Given the description of an element on the screen output the (x, y) to click on. 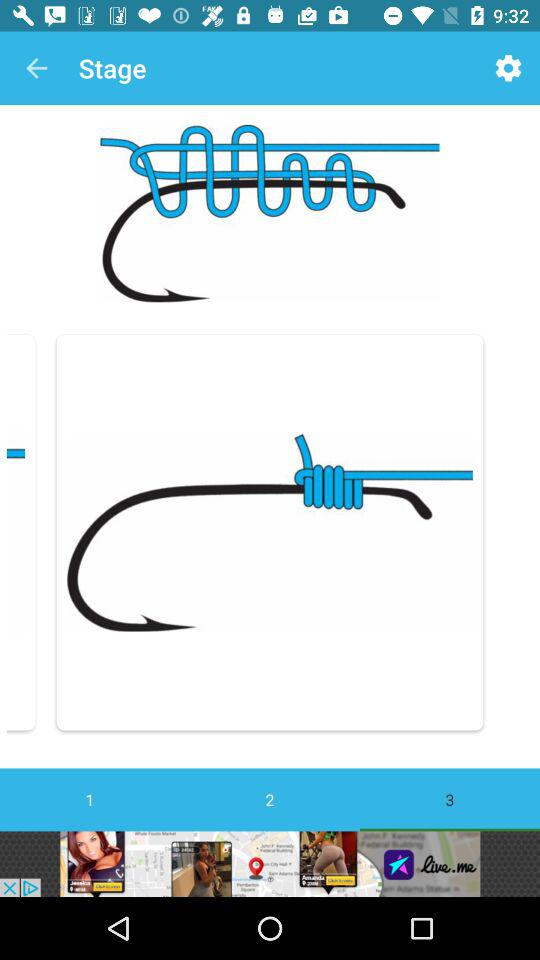
add option (270, 864)
